Given the description of an element on the screen output the (x, y) to click on. 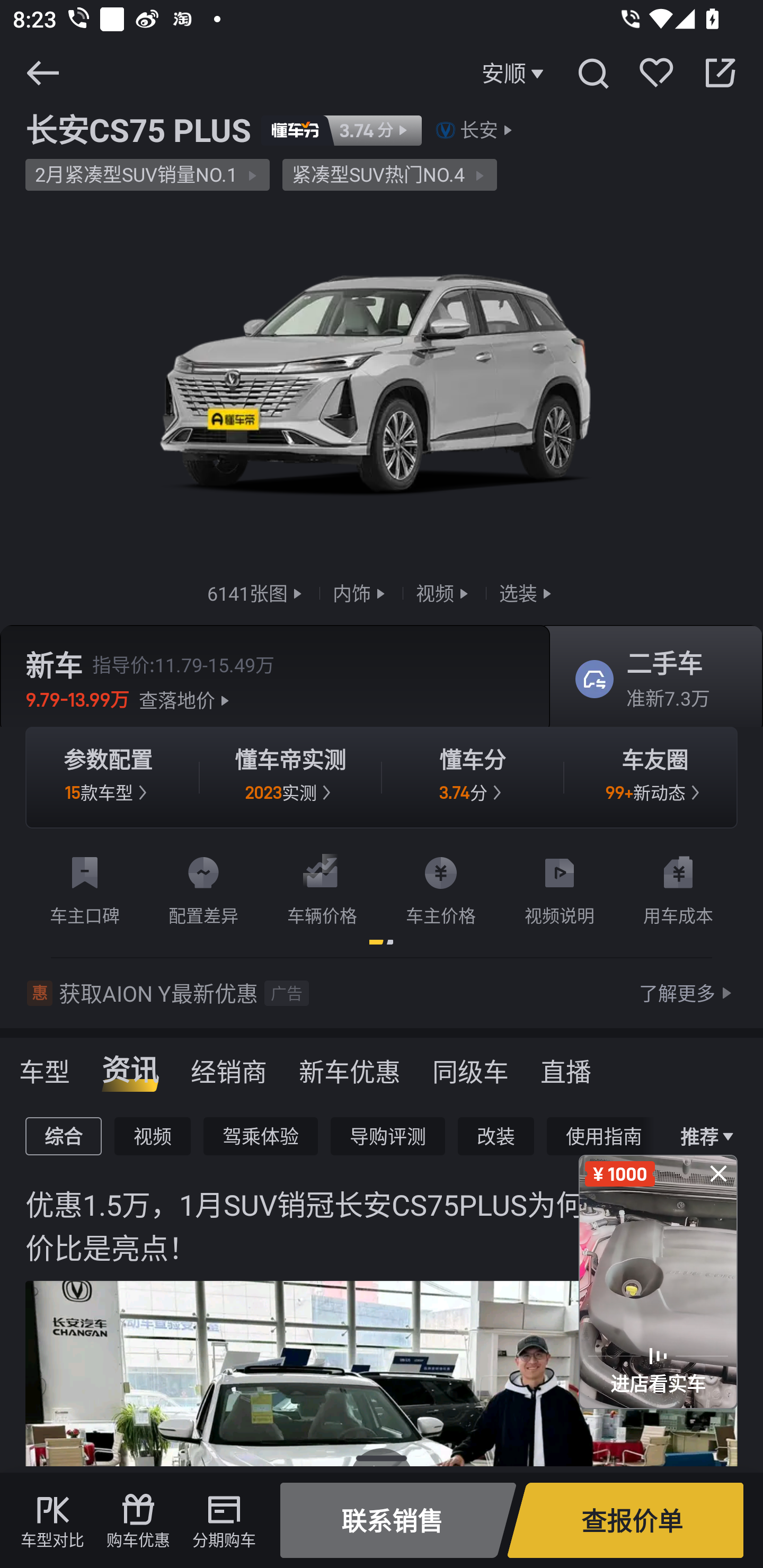
 (42, 72)
 (592, 72)
 (720, 72)
安顺 (514, 73)
长安 (479, 130)
2月紧凑型SUV销量NO.1  (147, 174)
紧凑型SUV热门NO.4  (389, 174)
6141张图 (256, 592)
内饰 (360, 592)
视频 (444, 592)
选装 (527, 592)
二手车 准新7.3万 (650, 679)
指导价:11.79-15.49万 (183, 664)
查落地价 (186, 699)
参数配置 15 款车型  (107, 777)
懂车帝实测 2023 实测  (290, 777)
懂车分 3.74 分  (472, 777)
车友圈 99+ 新动态  (654, 777)
车主口碑 (84, 887)
配置差异 (203, 887)
车辆价格 (321, 887)
车主价格 (440, 887)
视频说明 (559, 887)
用车成本 (677, 887)
惠 获取AION Y最新优惠 广告 了解更多  (381, 992)
车型 (44, 1065)
资讯 (129, 1065)
经销商 (228, 1065)
新车优惠 (349, 1065)
同级车 (470, 1065)
直播 (565, 1065)
综合 (63, 1135)
视频 (152, 1135)
驾乘体验 (260, 1135)
导购评测 (387, 1135)
改装 (495, 1135)
使用指南 (604, 1135)
推荐 (702, 1136)
 (718, 1173)
优惠1.5万，1月SUV销冠长安CS75PLUS为何值得买？性价比是亮点！  (381, 1365)
车型对比 (52, 1520)
购车优惠 (138, 1520)
分期购车 (224, 1520)
联系销售 (398, 1519)
查报价单 (625, 1519)
